Given the description of an element on the screen output the (x, y) to click on. 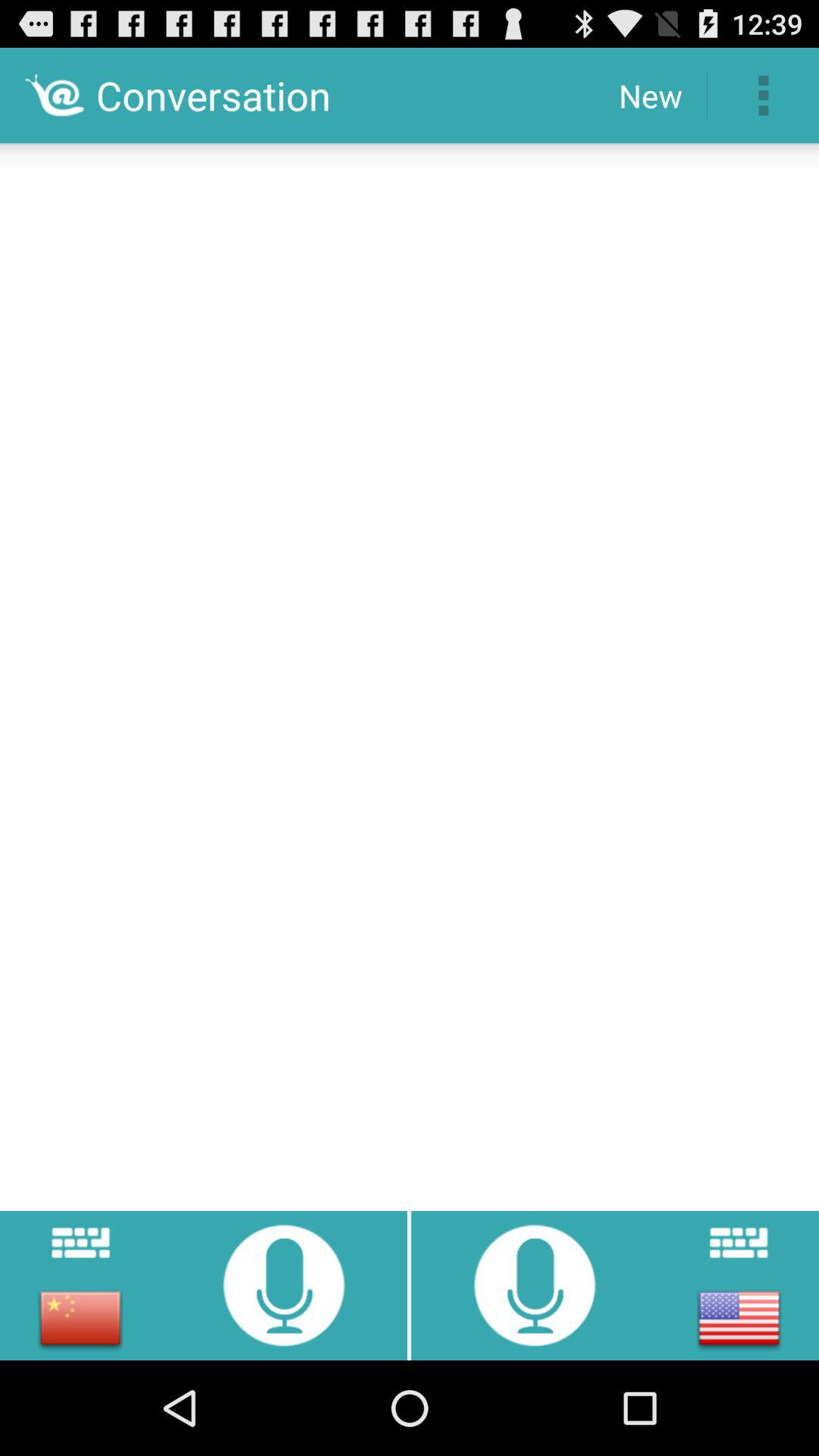
turn on the icon below the new icon (409, 671)
